Given the description of an element on the screen output the (x, y) to click on. 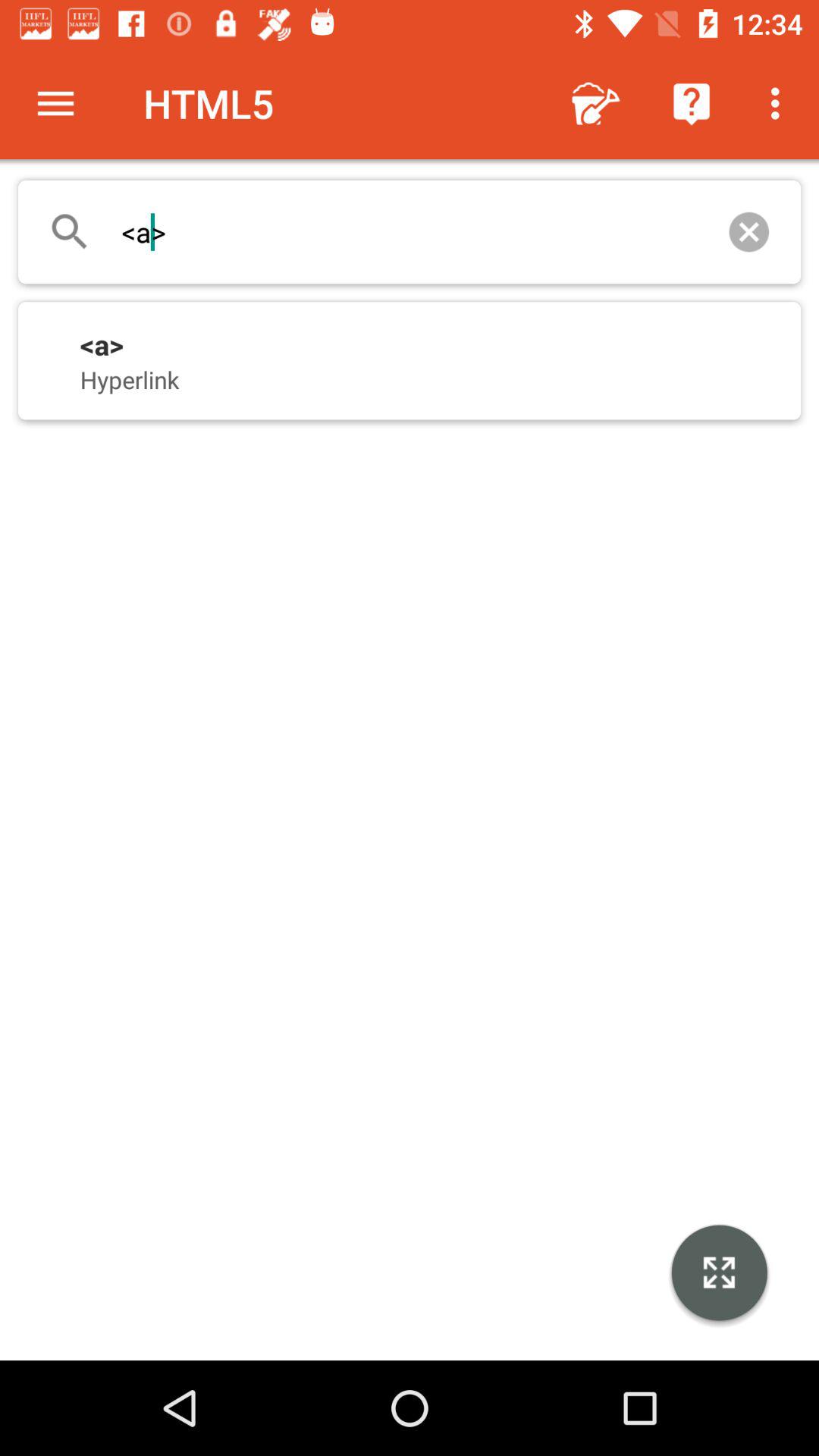
tap the app to the right of html5 icon (595, 103)
